Given the description of an element on the screen output the (x, y) to click on. 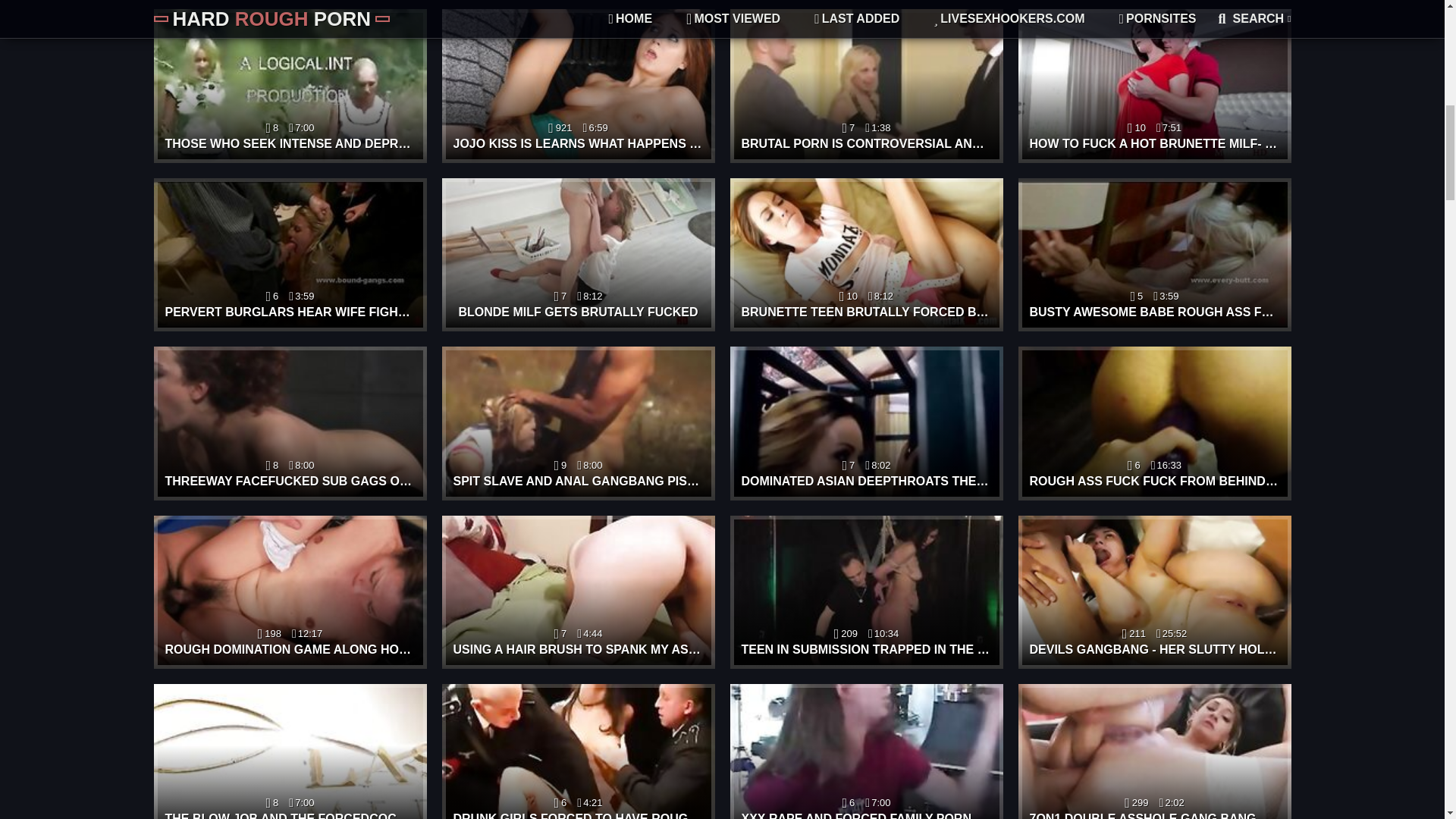
ROUGH DOMINATION GAME ALONG HORNY JAPANESE MIKI (289, 592)
BRUTAL PORN IS CONTROVERSIAL AND OFTEN WIDELY DISTRIBUTED. (866, 85)
BUSTY AWESOME BABE ROUGH ASS FUCK VIDEO (1153, 254)
PERVERT BURGLARS HEAR WIFE FIGHTING (289, 254)
THREEWAY FACEFUCKED SUB GAGS ON MALEDOM COCK (289, 423)
HOW TO FUCK A HOT BRUNETTE MILF- LILLIAN DOM (1153, 85)
TEEN IN SUBMISSION TRAPPED IN THE BONDAGE DUNGEON SEX (866, 592)
USING A HAIR BRUSH TO SPANK MY ASS HARD (577, 592)
BLONDE MILF GETS BRUTALLY FUCKED (577, 254)
BRUNETTE TEEN BRUTALLY FORCED BY DAD (866, 254)
JOJO KISS IS LEARNS WHAT HAPPENS WHEN YOU DO NOT ASK FIRST (577, 85)
DOMINATED ASIAN DEEPTHROATS THEN PLOWED ROUGH (866, 423)
